Given the description of an element on the screen output the (x, y) to click on. 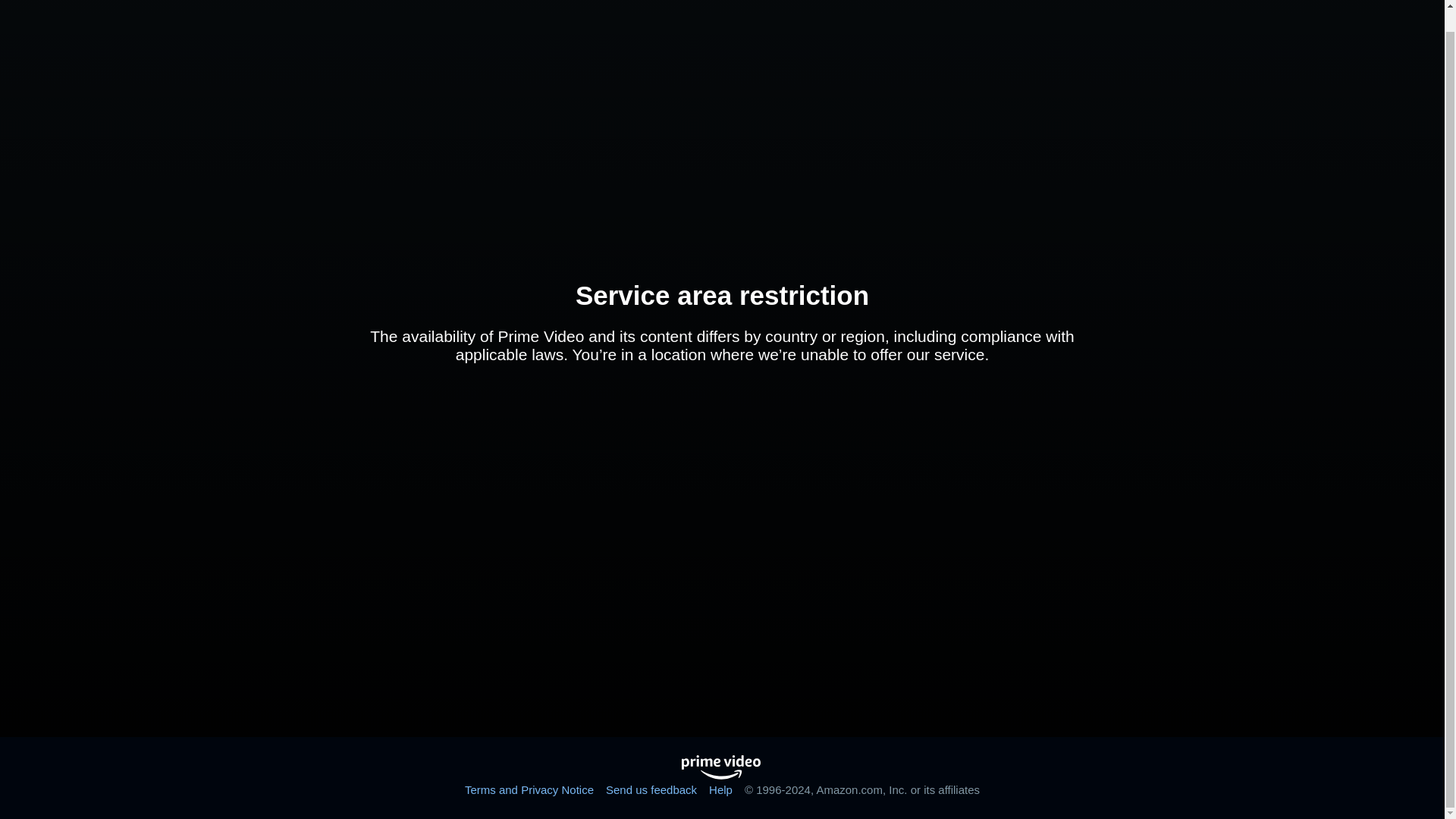
Terms and Privacy Notice (529, 789)
Send us feedback (651, 789)
Help (720, 789)
